Given the description of an element on the screen output the (x, y) to click on. 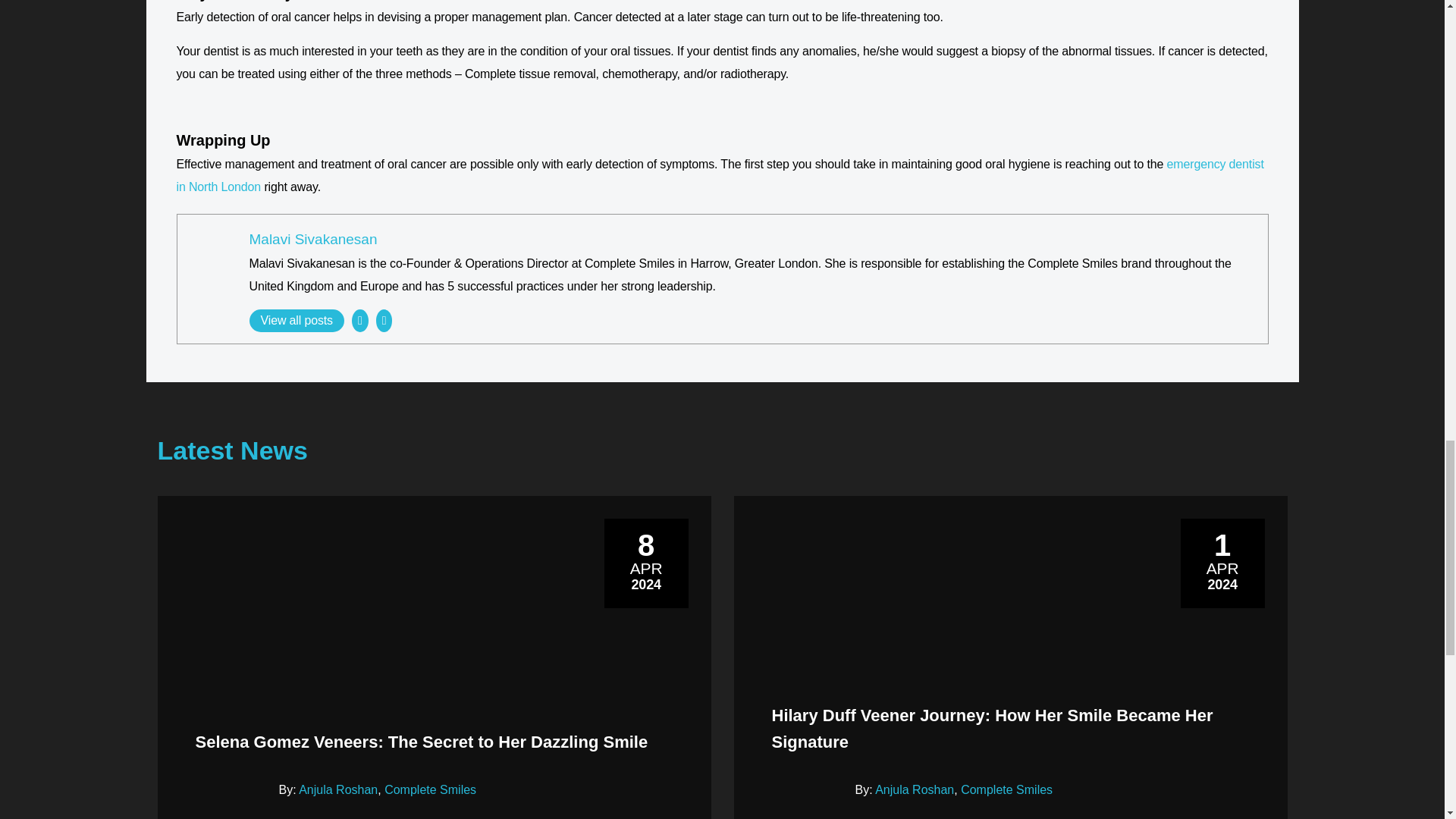
Posts by Complete Smiles (430, 789)
Posts by Complete Smiles (1006, 789)
Posts by Malavi Sivakanesan (312, 238)
Posts by Anjula Roshan (337, 789)
Posts by Anjula Roshan (914, 789)
